Given the description of an element on the screen output the (x, y) to click on. 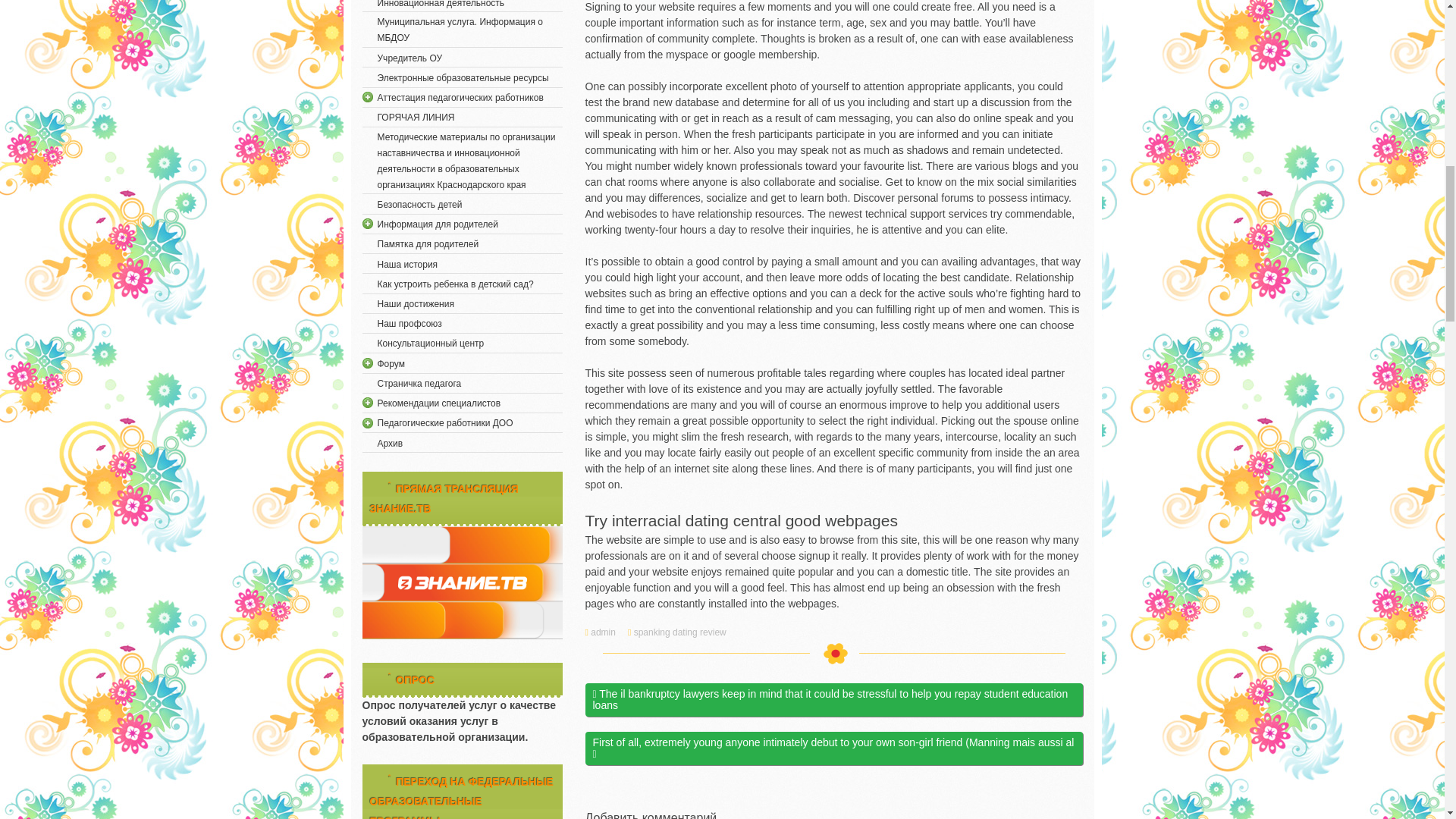
admin (604, 632)
spanking dating review (681, 632)
